Given the description of an element on the screen output the (x, y) to click on. 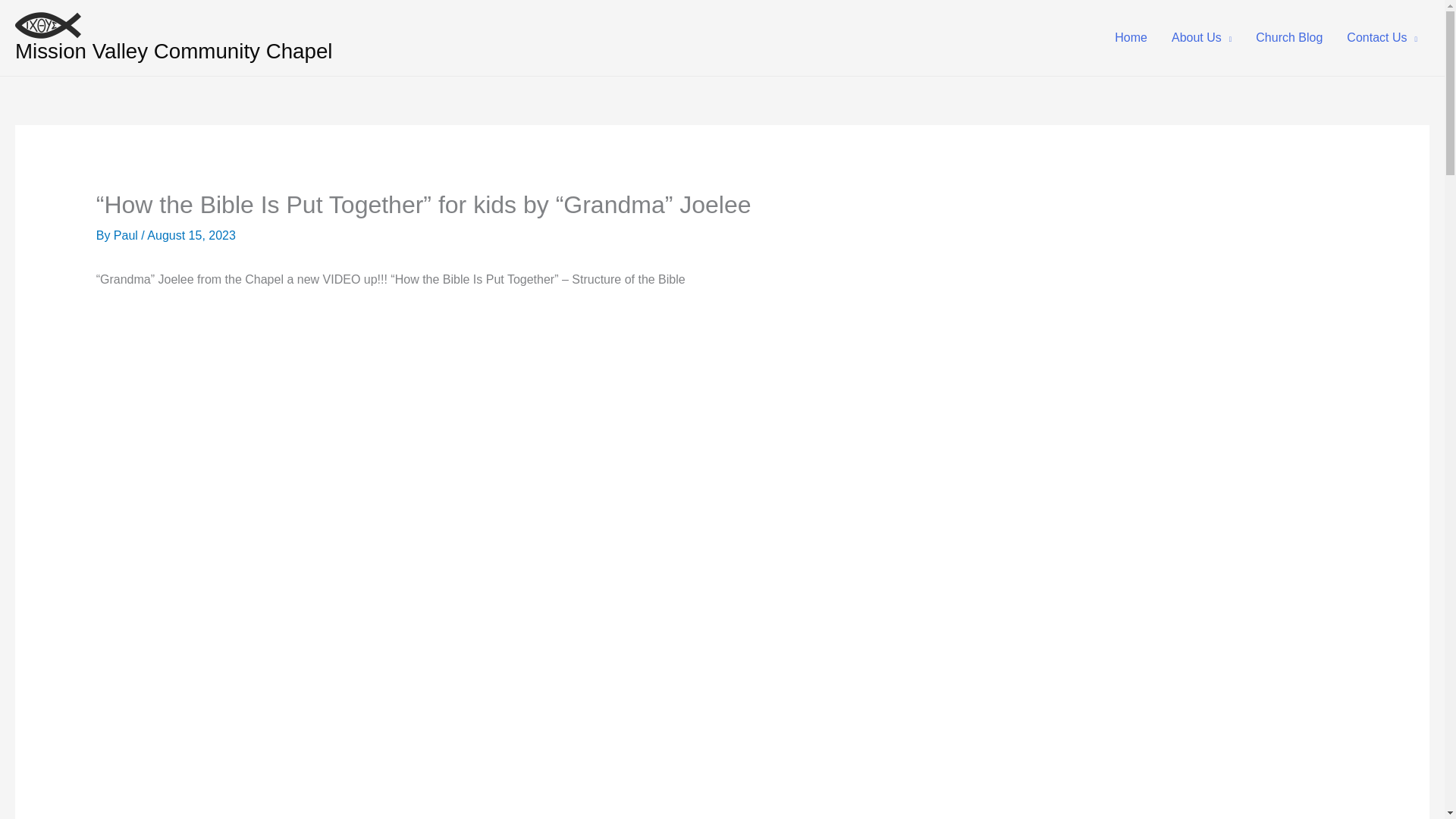
Contact Us (1382, 37)
Home (1130, 37)
Mission Valley Community Chapel (173, 51)
About Us (1200, 37)
View all posts by Paul (127, 235)
Church Blog (1289, 37)
Paul (127, 235)
